Given the description of an element on the screen output the (x, y) to click on. 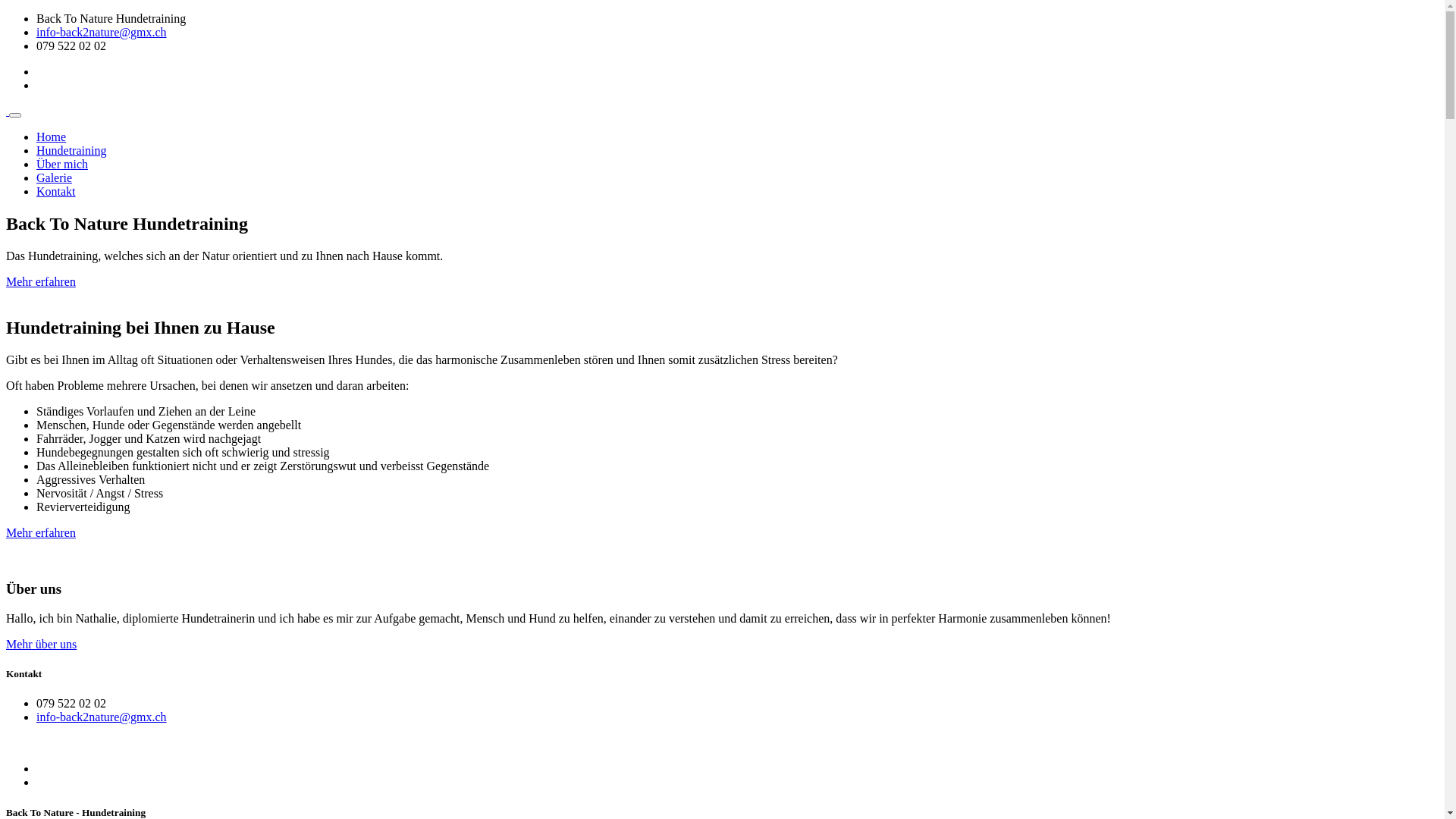
Hundetraining Element type: text (71, 150)
Mehr erfahren Element type: text (40, 532)
Kontakt Element type: text (55, 191)
Home Element type: text (50, 136)
info-back2nature@gmx.ch Element type: text (101, 716)
info-back2nature@gmx.ch Element type: text (101, 31)
Mehr erfahren Element type: text (40, 281)
Galerie Element type: text (54, 177)
